Given the description of an element on the screen output the (x, y) to click on. 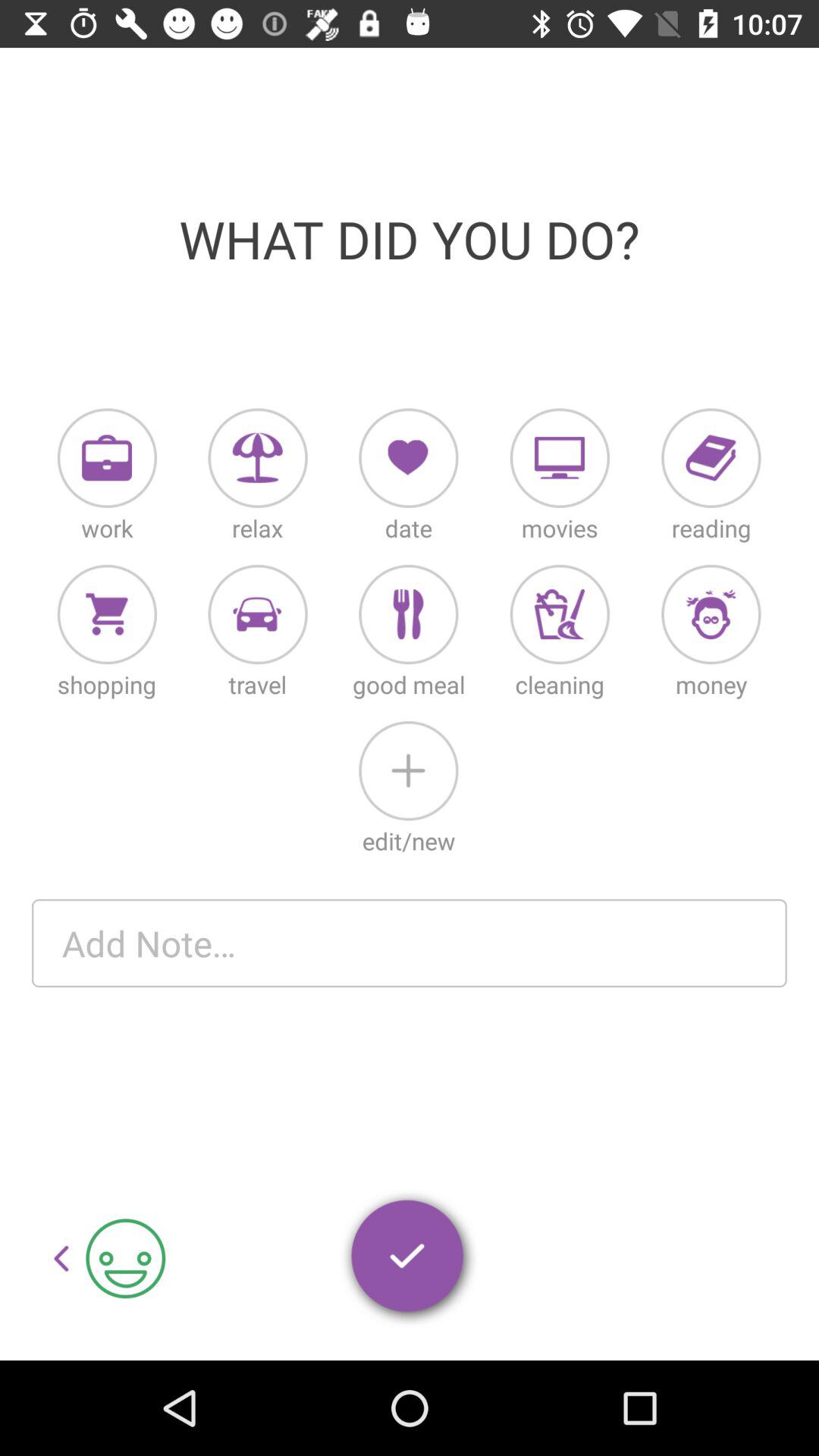
cleaning (559, 614)
